Given the description of an element on the screen output the (x, y) to click on. 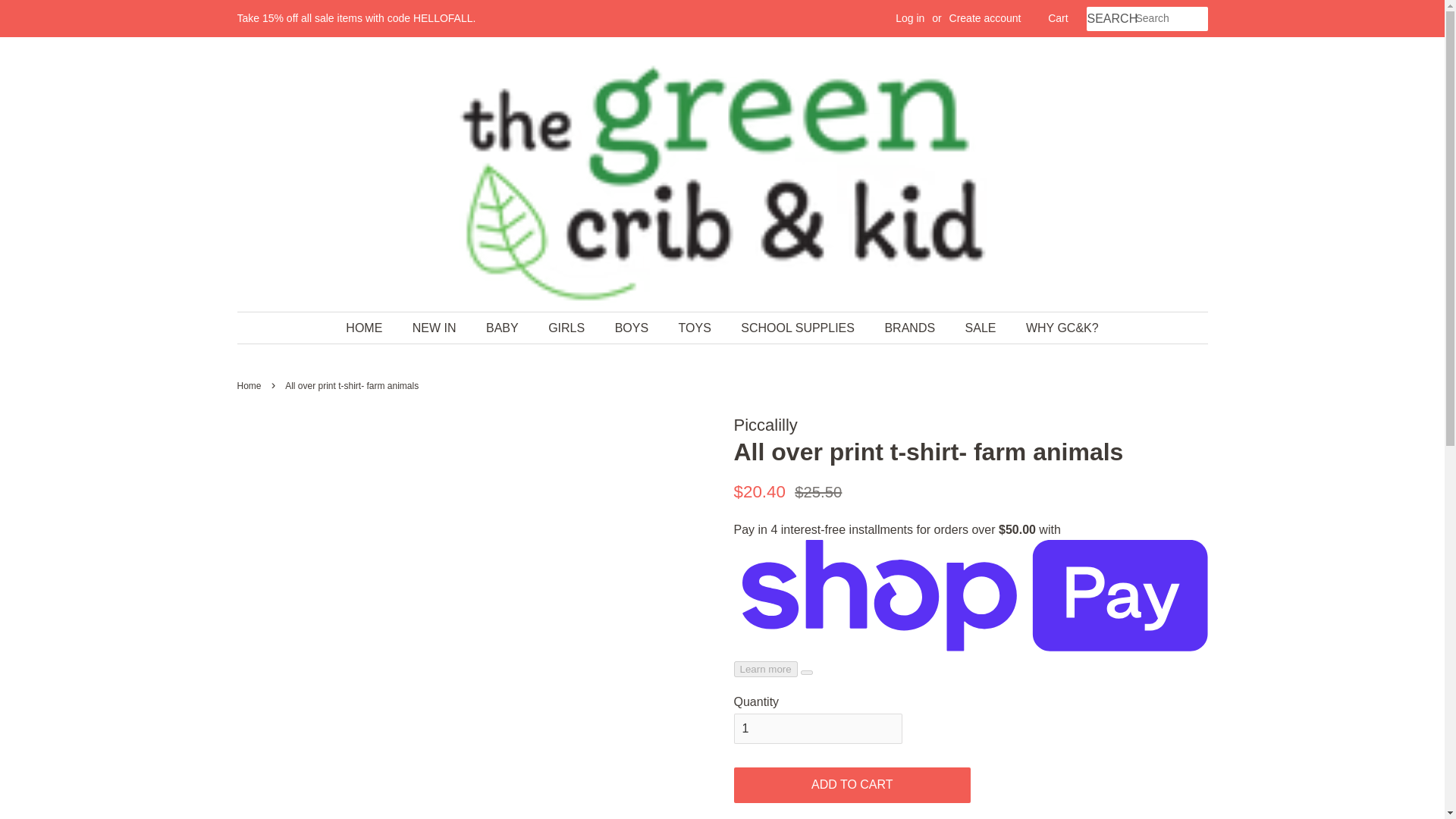
Cart (1057, 18)
SEARCH (1110, 18)
Log in (909, 18)
1 (817, 728)
Create account (985, 18)
Back to the frontpage (249, 385)
